Given the description of an element on the screen output the (x, y) to click on. 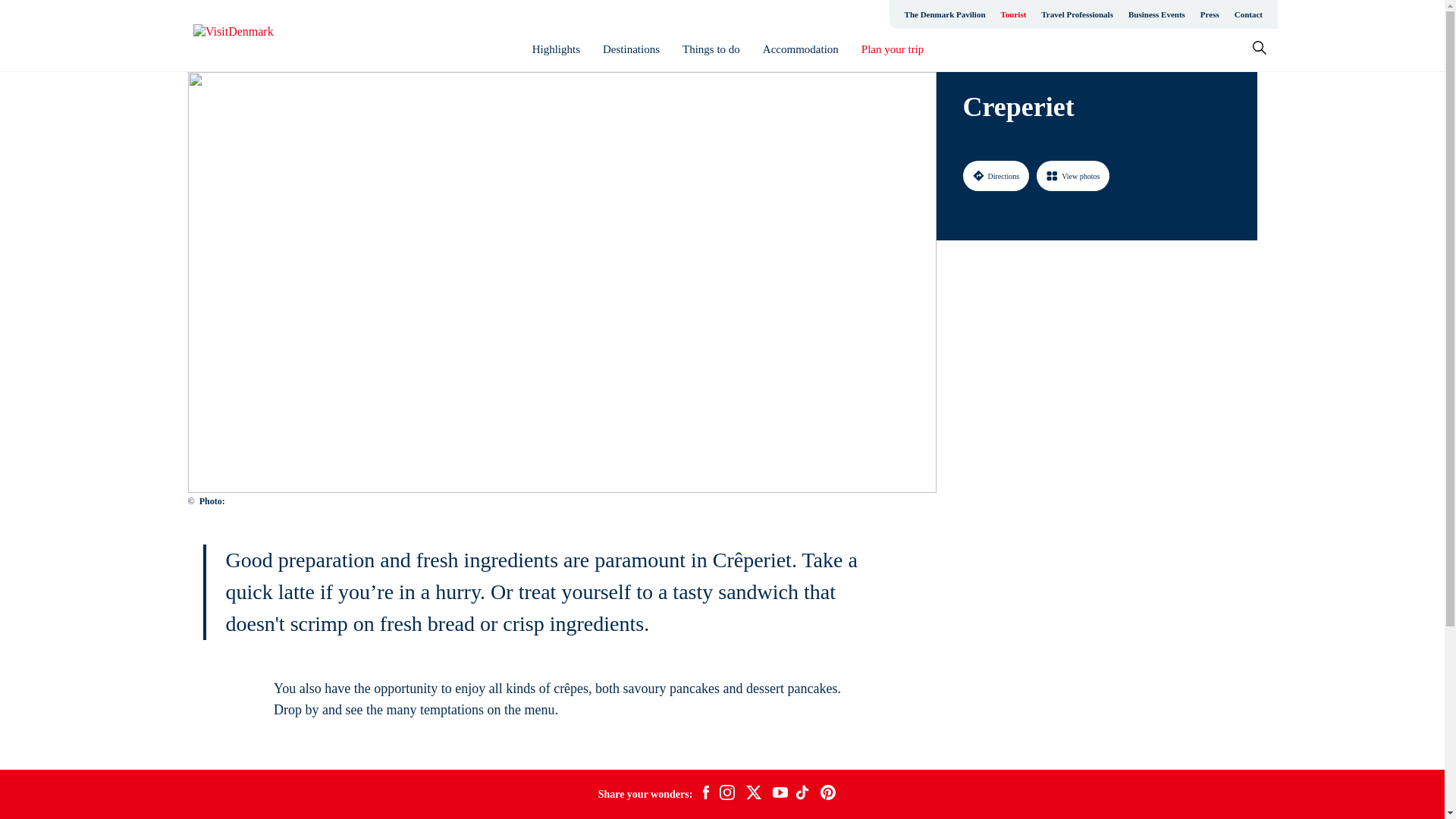
Directions (995, 175)
Destinations (630, 49)
Contact (1248, 14)
twitter (753, 794)
Go to homepage (253, 35)
The Denmark Pavilion (944, 14)
Plan your trip (892, 49)
Press (1209, 14)
tiktok (804, 794)
Business Events (1156, 14)
Travel Professionals (1077, 14)
pinterest (828, 794)
instagram (726, 794)
View photos (1072, 175)
Accommodation (800, 49)
